Given the description of an element on the screen output the (x, y) to click on. 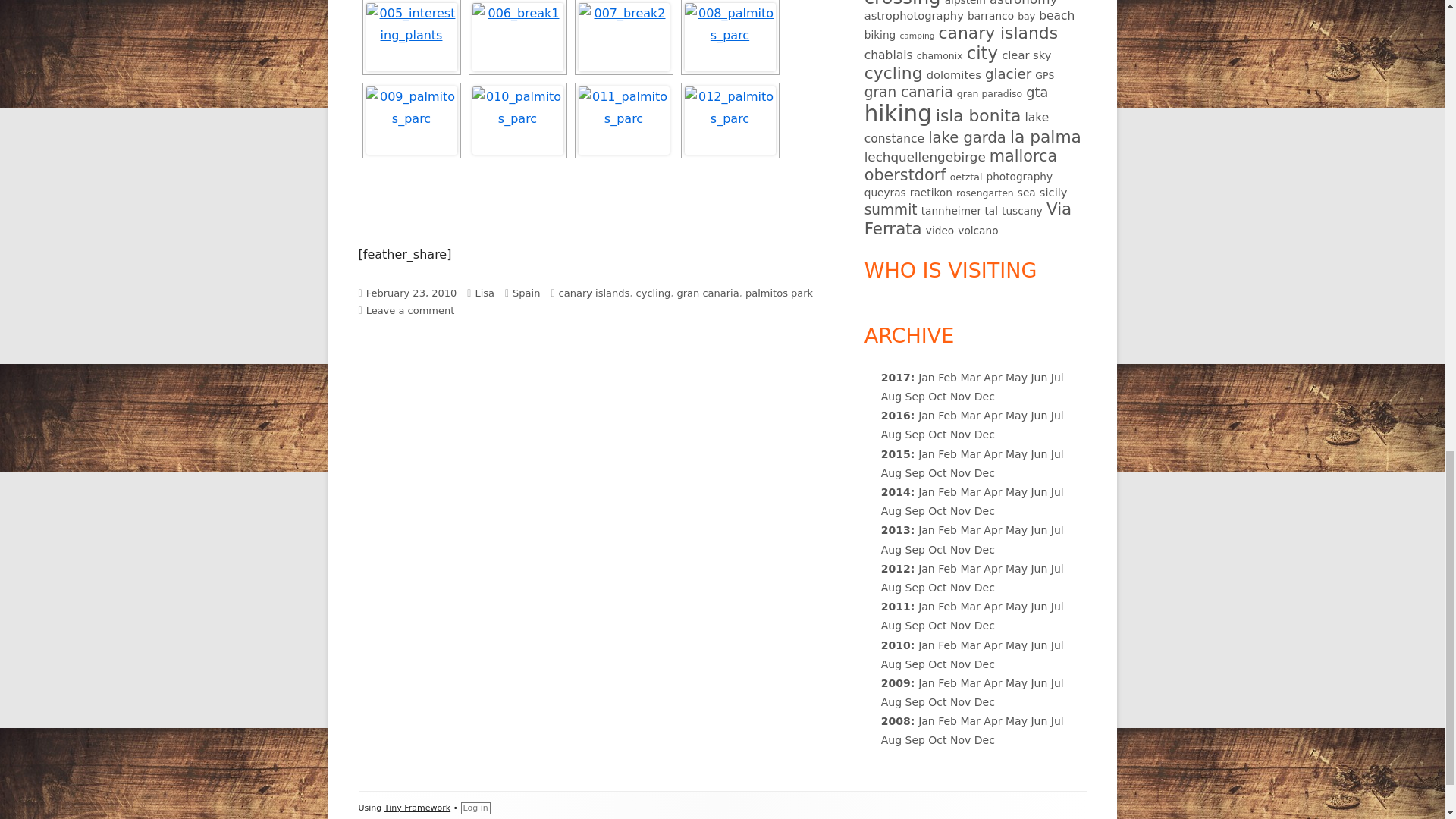
February 23, 2010 (411, 292)
January 2001 (926, 377)
March 2001 (969, 377)
June 2001 (1038, 377)
